Given the description of an element on the screen output the (x, y) to click on. 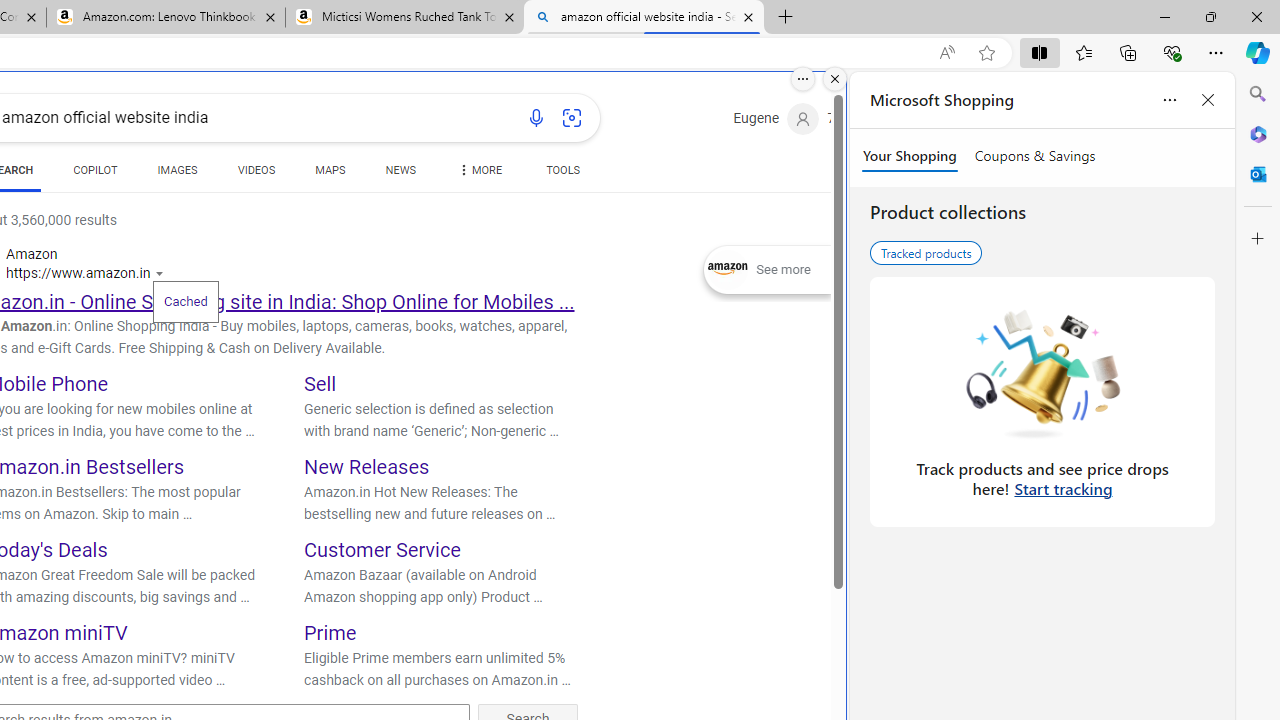
Add this page to favorites (Ctrl+D) (986, 53)
Minimize (1164, 16)
IMAGES (177, 170)
Close split screen. (835, 79)
COPILOT (95, 170)
Outlook (1258, 174)
Favorites (1083, 52)
Prime (330, 632)
Copilot (Ctrl+Shift+.) (1258, 52)
More options. (803, 79)
VIDEOS (256, 173)
Microsoft 365 (1258, 133)
New Tab (785, 17)
